Given the description of an element on the screen output the (x, y) to click on. 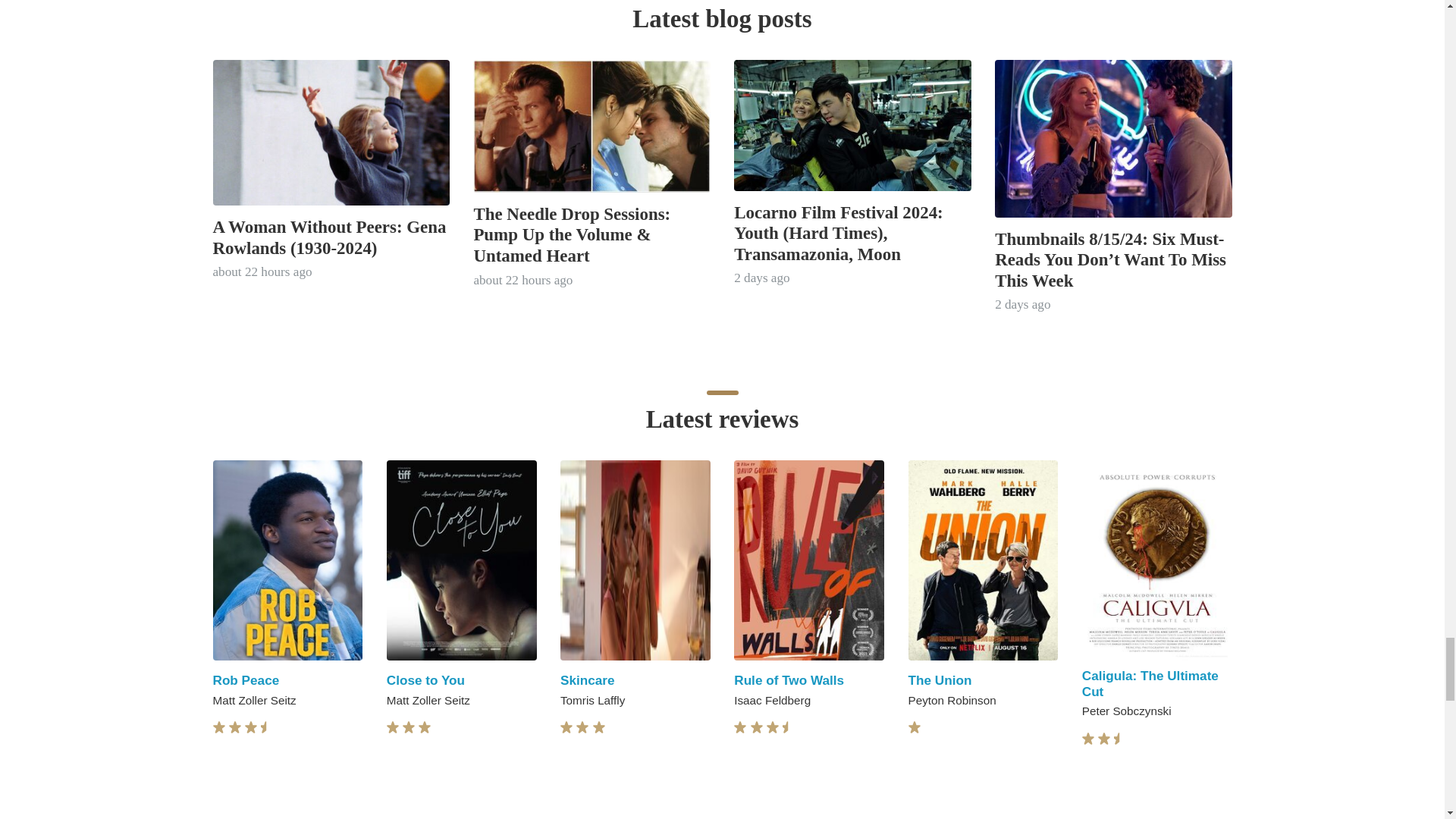
star-full (566, 727)
star-full (234, 727)
star-full (408, 727)
star-full (582, 727)
star-full (250, 727)
star-full (598, 727)
star-half (266, 727)
star-full (218, 727)
star-full (424, 727)
star-full (392, 727)
